Given the description of an element on the screen output the (x, y) to click on. 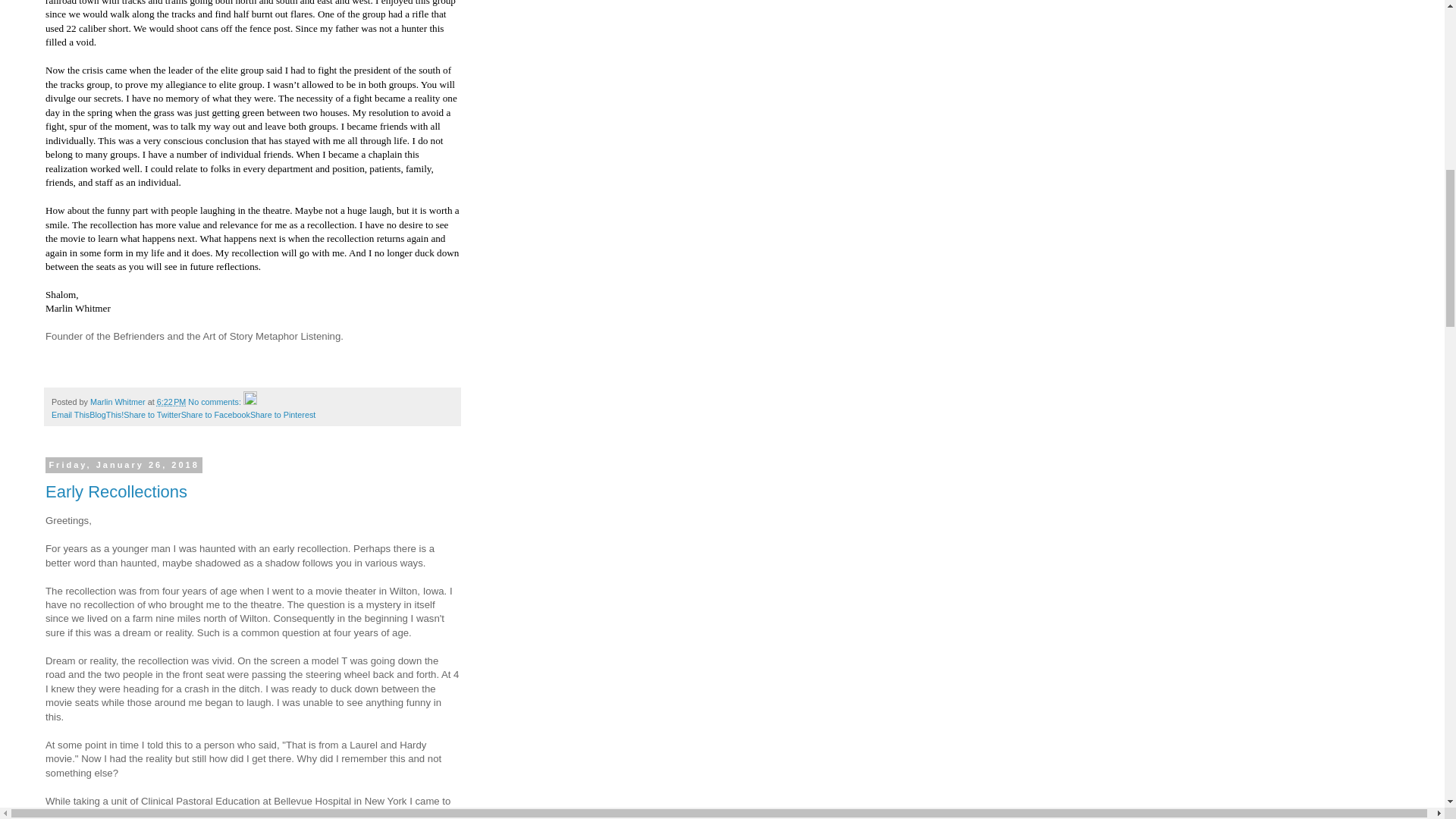
Edit Post (250, 401)
No comments: (215, 401)
BlogThis! (105, 414)
Share to Facebook (215, 414)
Early Recollections (116, 491)
author profile (119, 401)
Marlin Whitmer (119, 401)
Share to Pinterest (282, 414)
Share to Pinterest (282, 414)
Share to Facebook (215, 414)
Email This (69, 414)
Email This (69, 414)
Share to Twitter (151, 414)
Share to Twitter (151, 414)
